Given the description of an element on the screen output the (x, y) to click on. 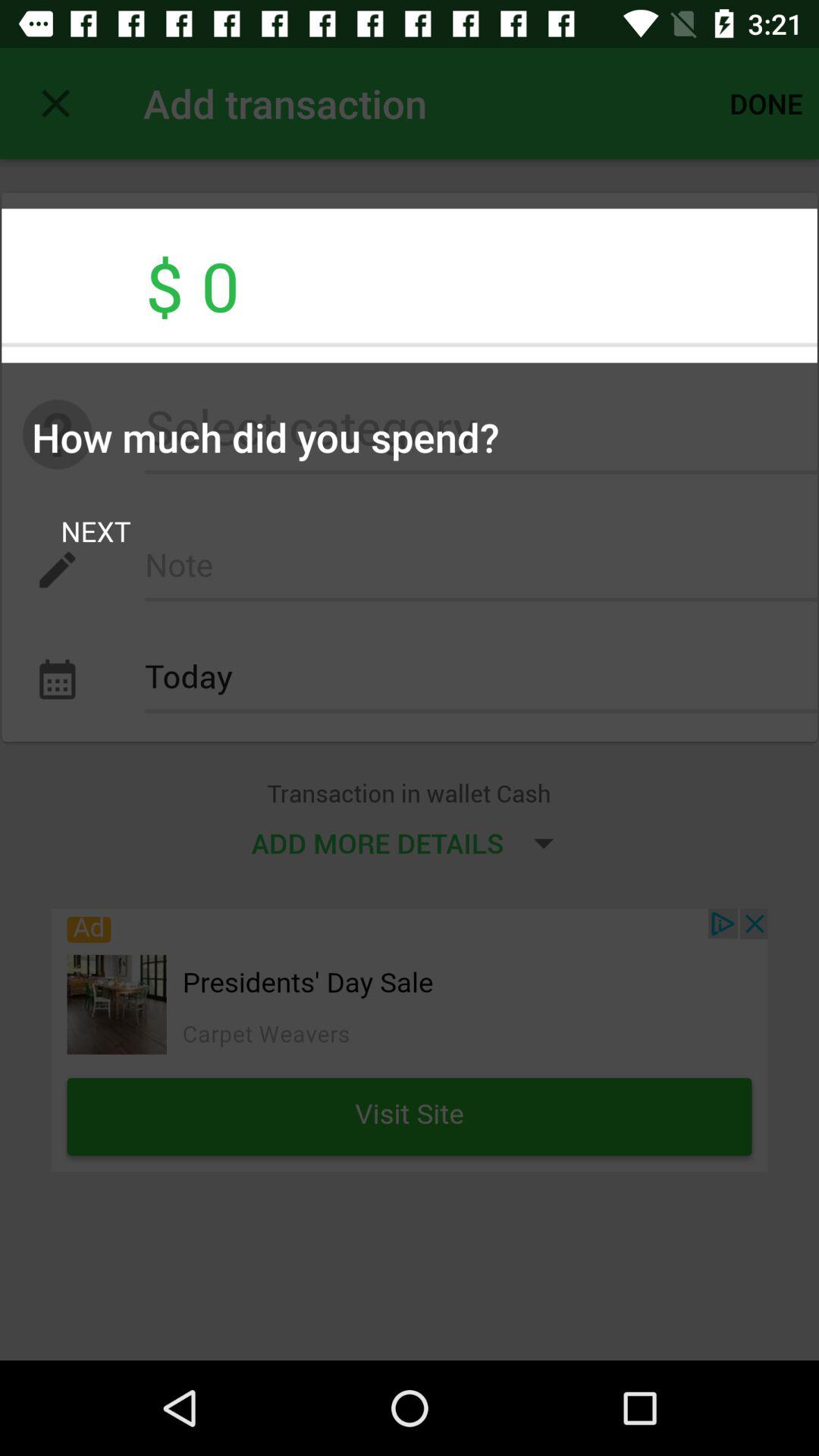
turn off done at the top right corner (766, 103)
